Given the description of an element on the screen output the (x, y) to click on. 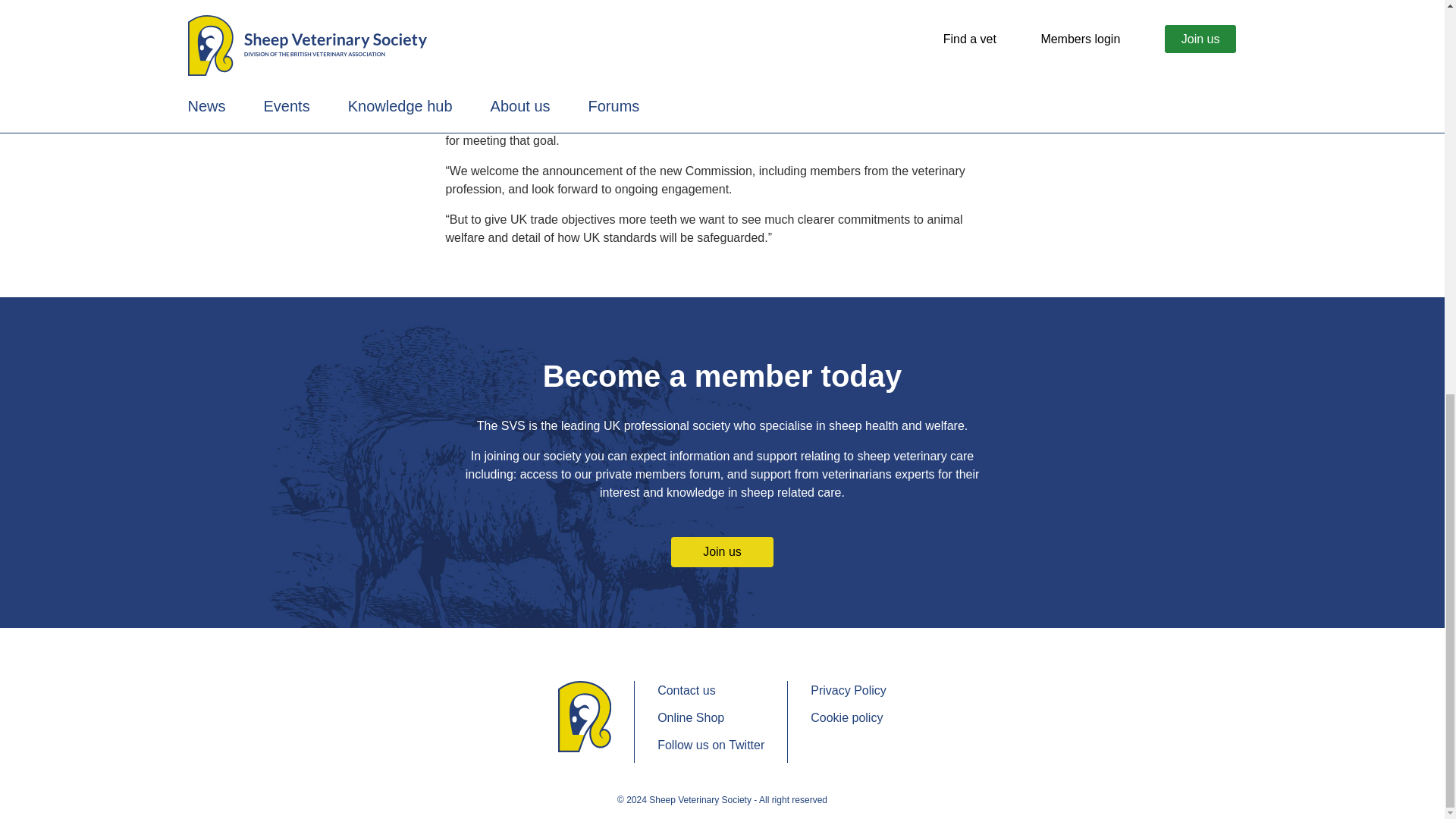
Online Shop (711, 718)
Follow us on Twitter (711, 745)
Cookie policy (848, 718)
Contact us (711, 690)
Join us (722, 552)
Privacy Policy (848, 690)
